Given the description of an element on the screen output the (x, y) to click on. 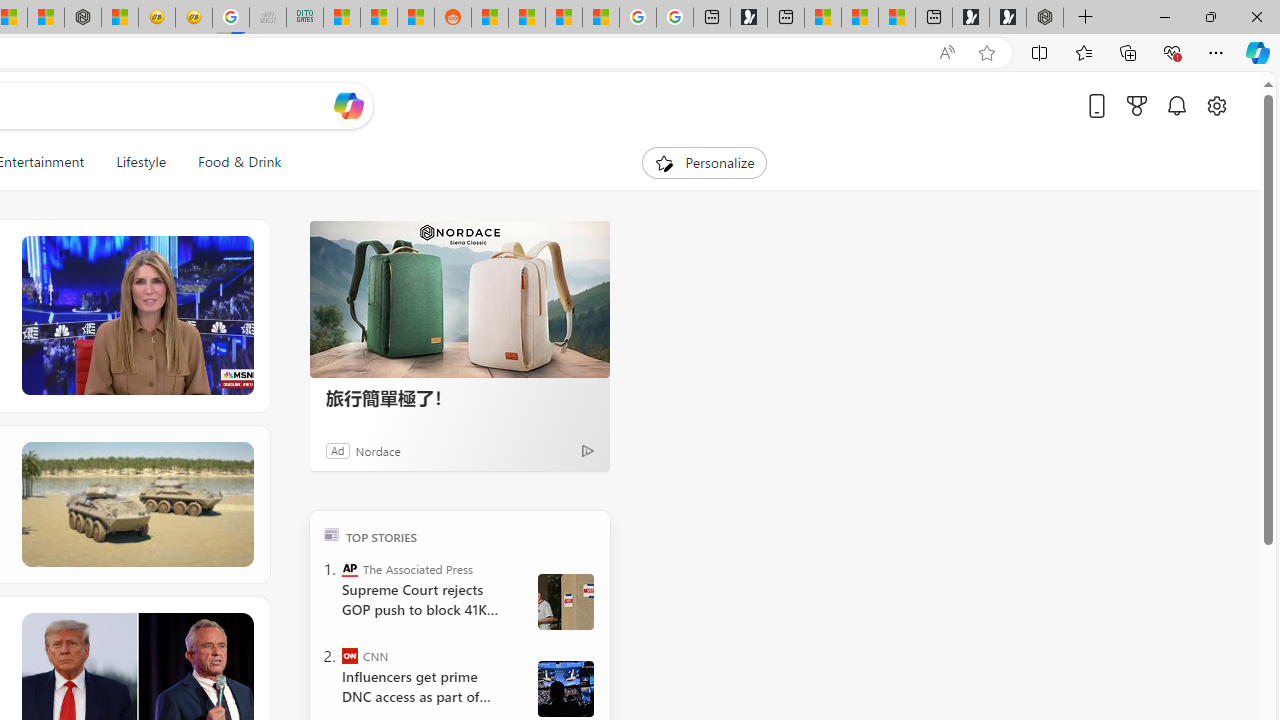
Class: hero-image (136, 316)
Navy Quest (267, 17)
MSNBC - MSN (341, 17)
Food & Drink (231, 162)
Lifestyle (140, 162)
Nordace - #1 Japanese Best-Seller - Siena Smart Backpack (83, 17)
The Associated Press (349, 568)
